Given the description of an element on the screen output the (x, y) to click on. 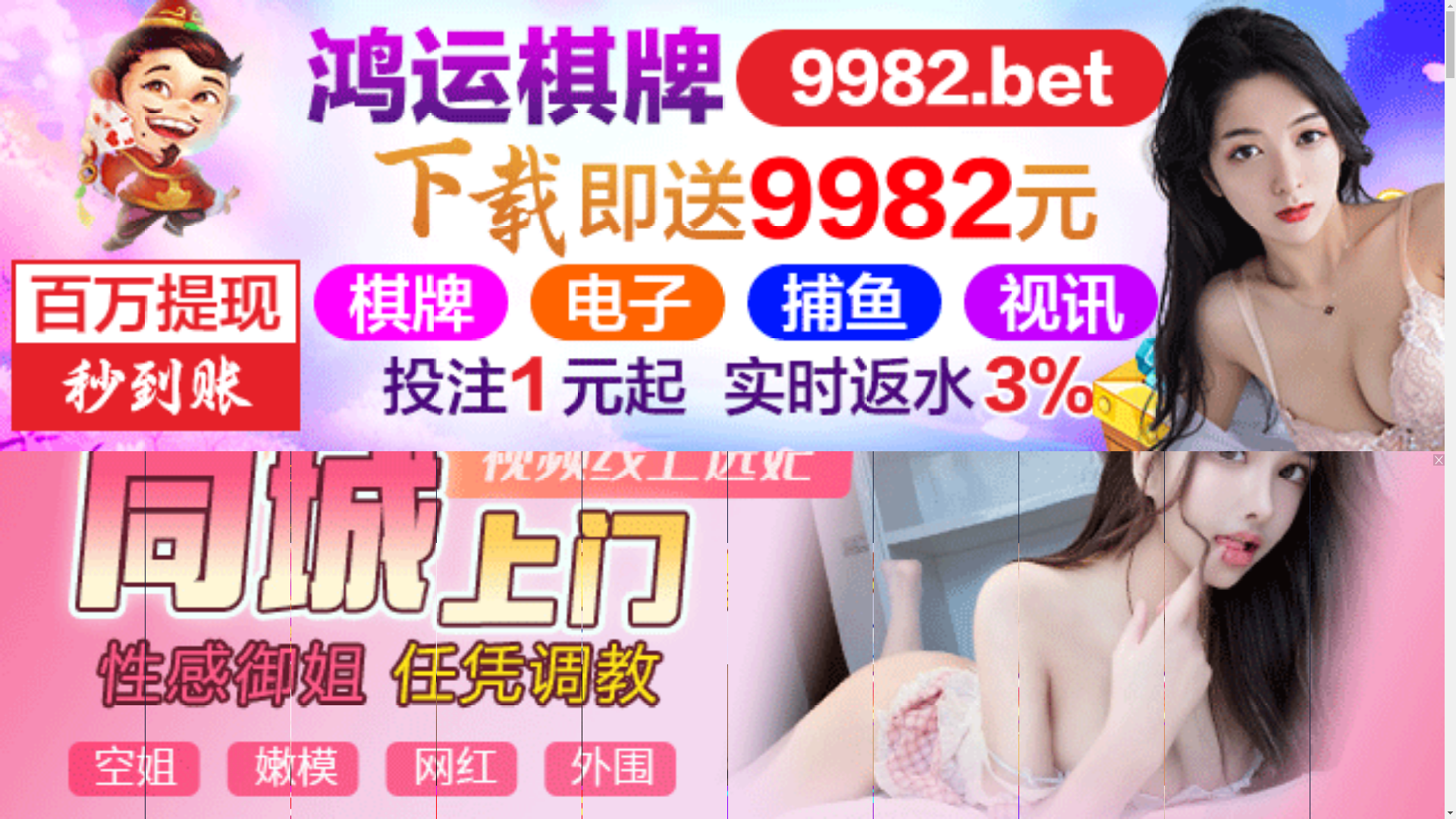
136DOWN.COM Element type: text (337, 473)
